Given the description of an element on the screen output the (x, y) to click on. 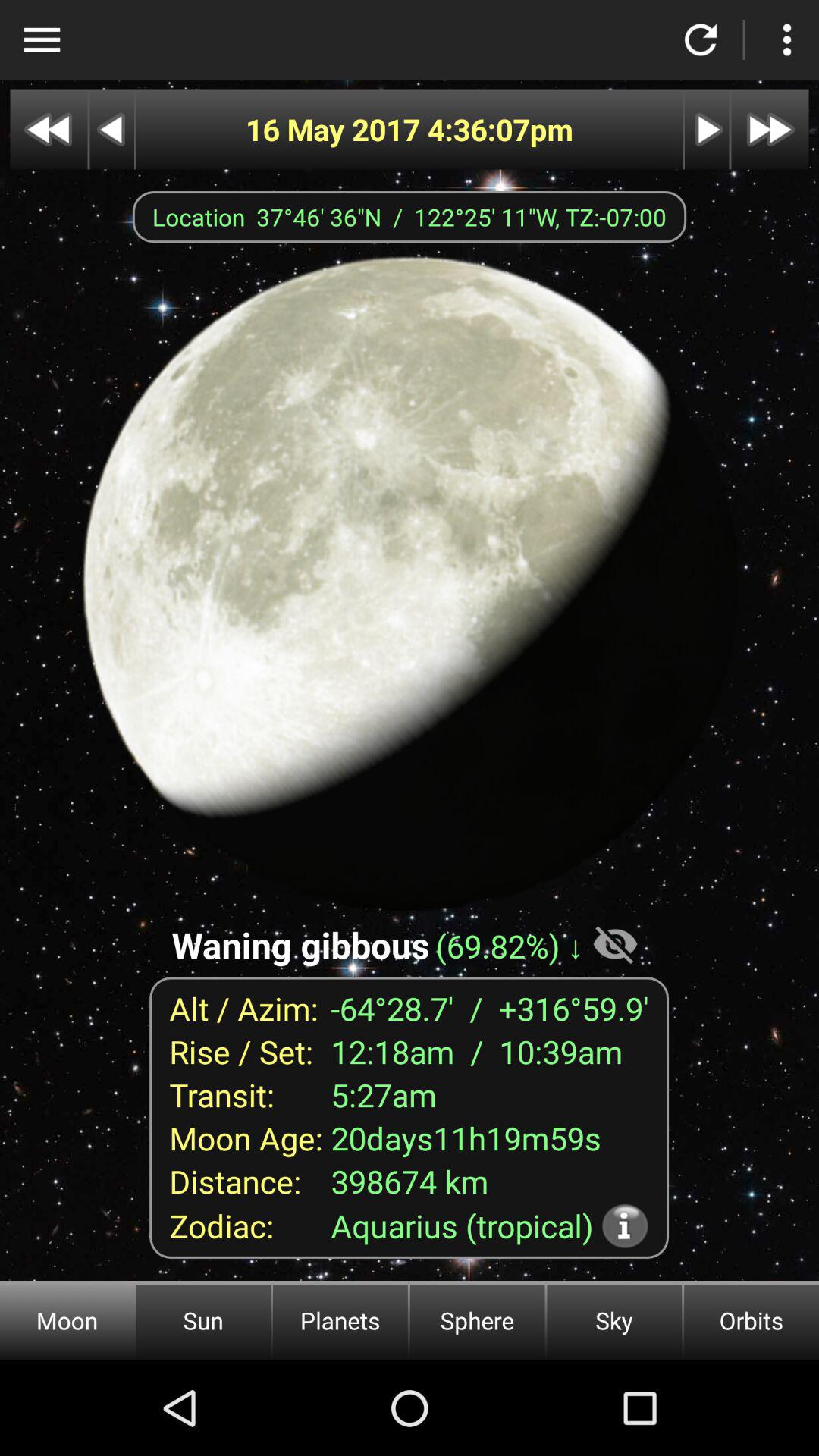
aquarius information/details (624, 1225)
